Given the description of an element on the screen output the (x, y) to click on. 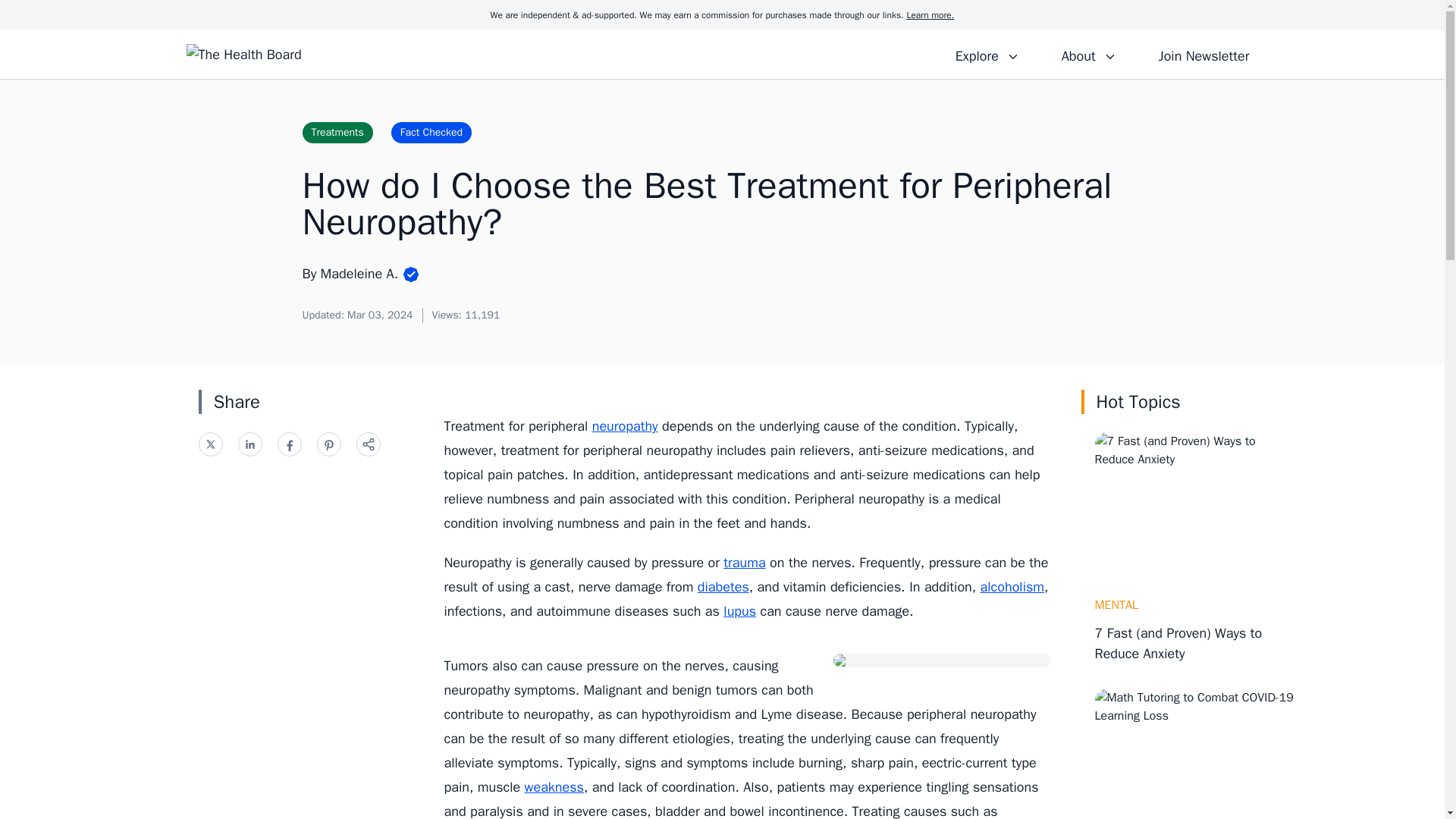
Fact Checked (431, 132)
Treatments (336, 132)
Learn more. (929, 15)
Join Newsletter (1202, 54)
About (1088, 54)
Explore (986, 54)
